Given the description of an element on the screen output the (x, y) to click on. 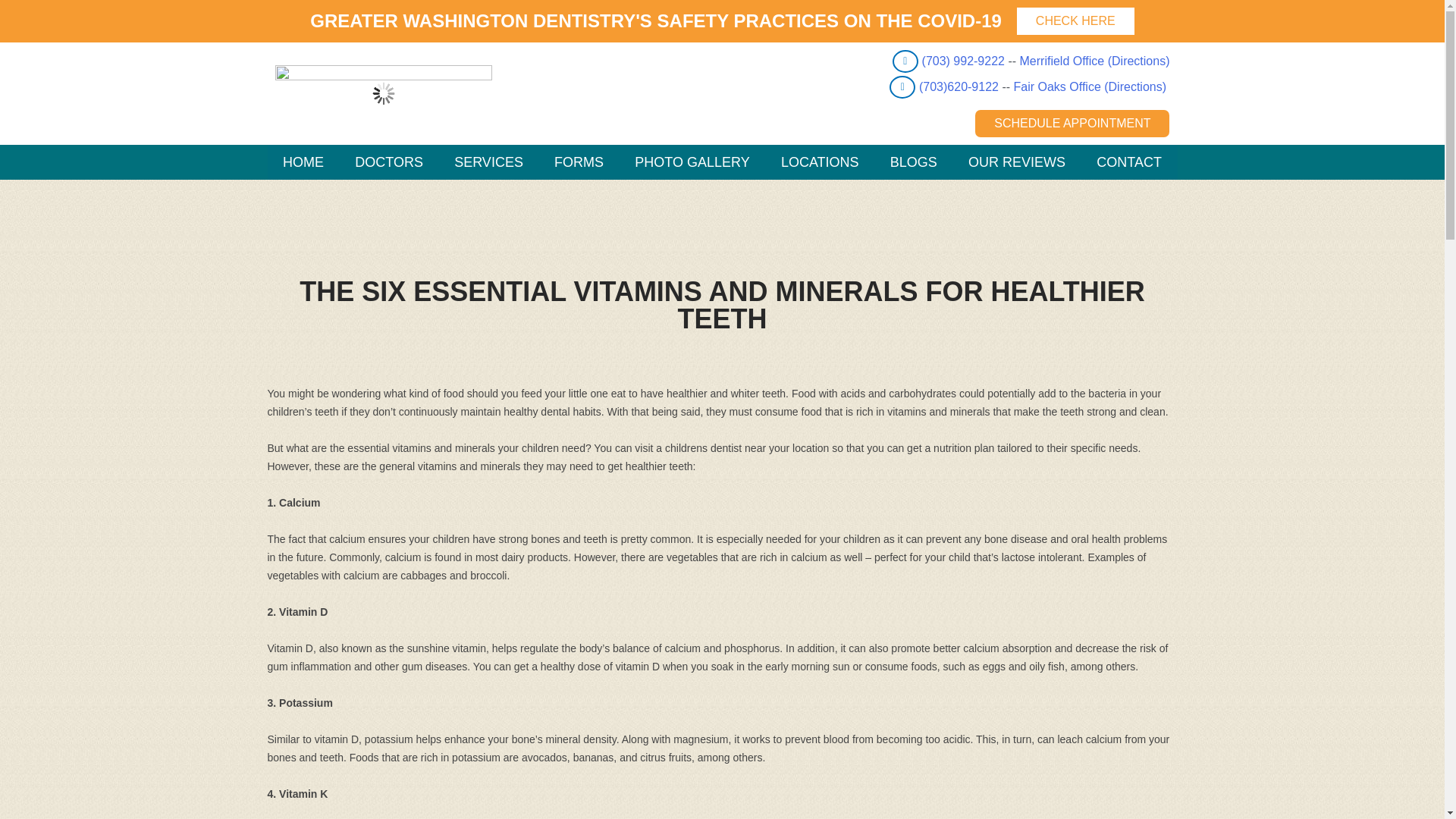
CHECK HERE (1075, 21)
SERVICES (488, 161)
HOME (302, 161)
SCHEDULE APPOINTMENT (1072, 123)
DOCTORS (389, 161)
